Given the description of an element on the screen output the (x, y) to click on. 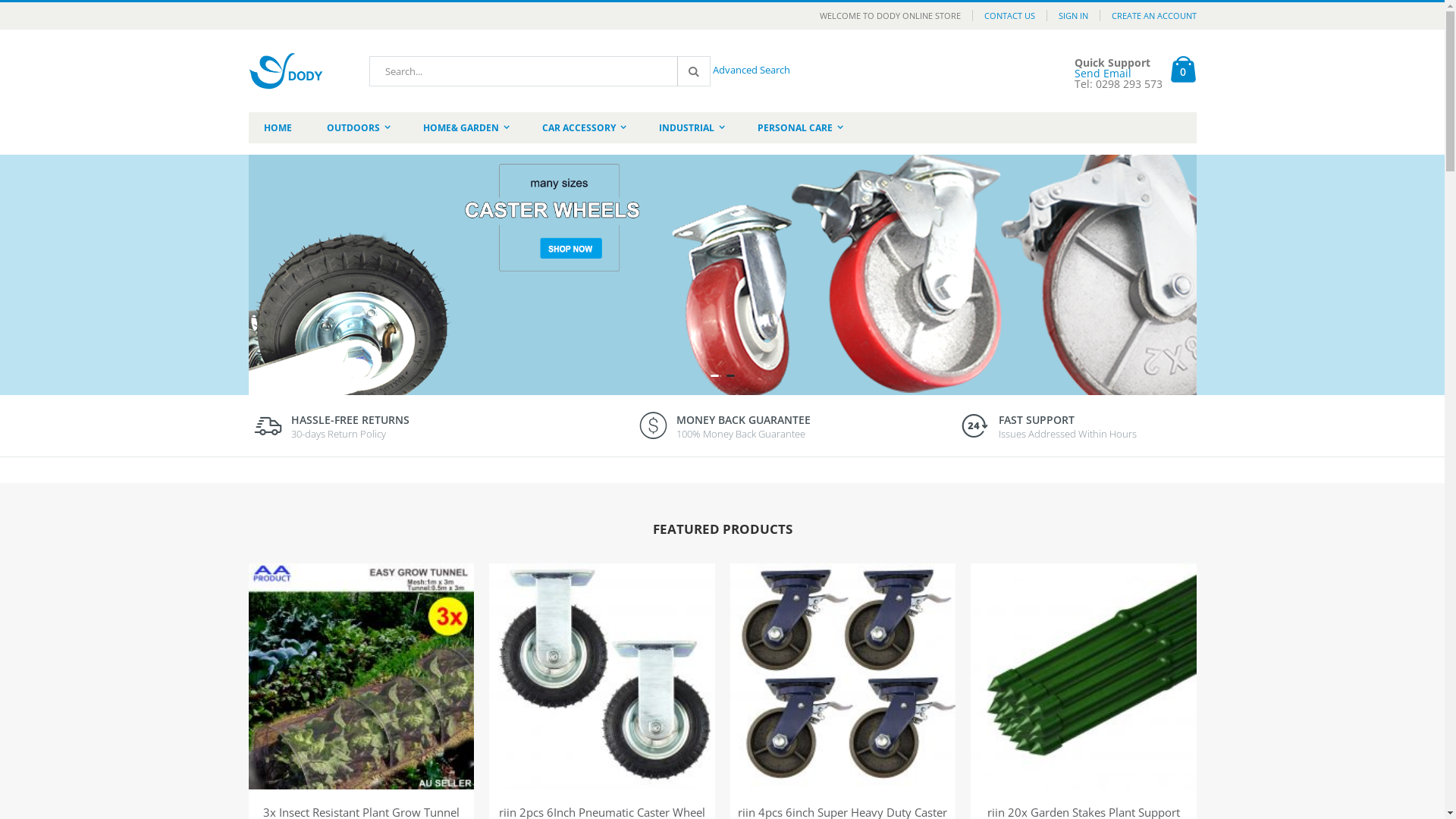
PERSONAL CARE Element type: text (799, 127)
SIGN IN Element type: text (1072, 15)
Send Email Element type: text (1101, 72)
INDUSTRIAL Element type: text (691, 127)
Skip to Content Element type: text (247, 9)
Search Element type: text (692, 71)
Advanced Search Element type: text (751, 69)
CAR ACCESSORY Element type: text (583, 127)
CONTACT US Element type: text (1009, 15)
OUTDOORS Element type: text (357, 127)
HOME Element type: text (277, 127)
HOME& GARDEN Element type: text (465, 127)
CREATE AN ACCOUNT Element type: text (1147, 15)
Cart
0 Element type: text (1182, 71)
